Given the description of an element on the screen output the (x, y) to click on. 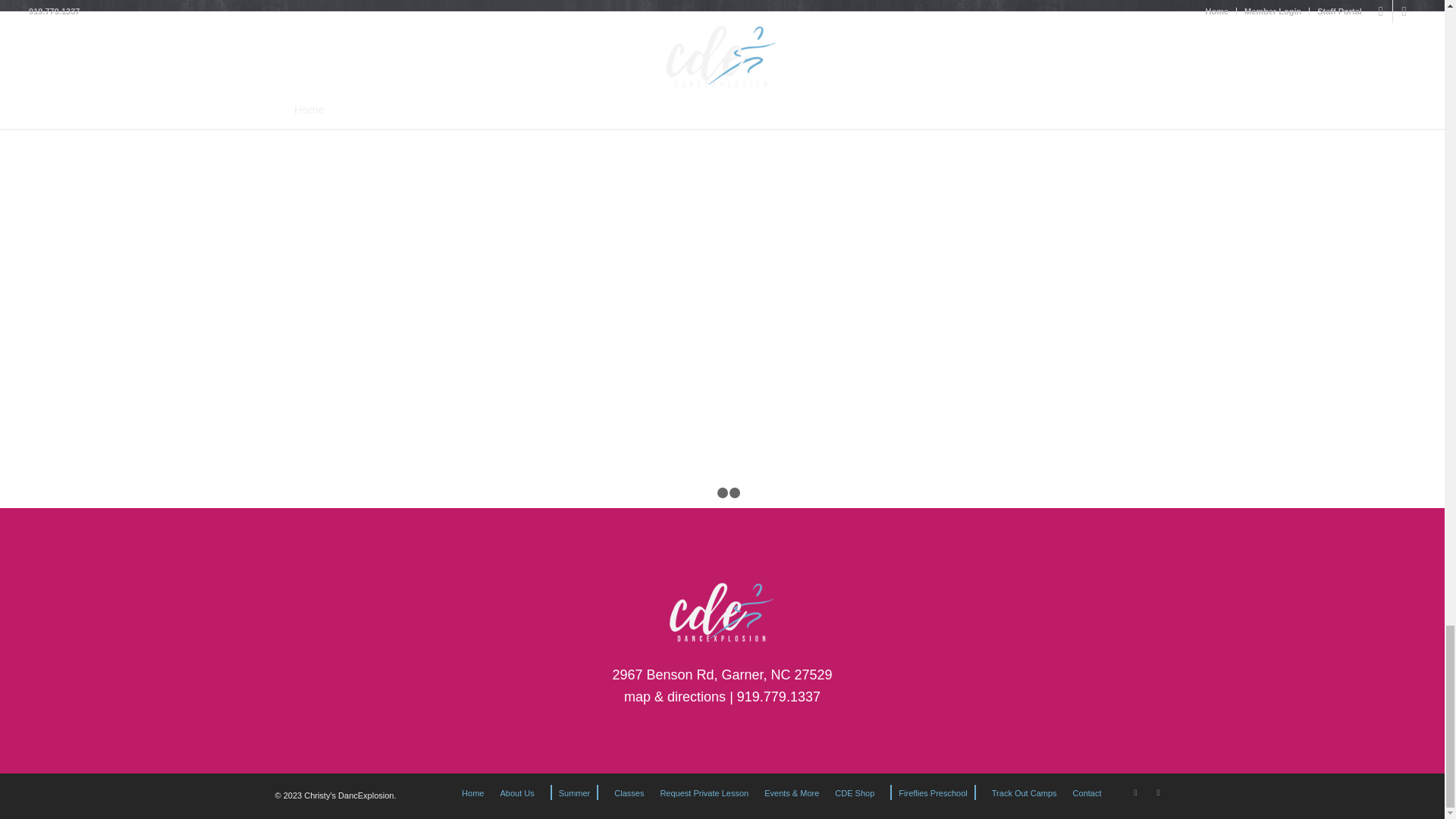
3 (734, 492)
Mail (1158, 792)
Facebook (1135, 792)
2 (722, 492)
1 (710, 492)
919.779.1337 (778, 696)
